Given the description of an element on the screen output the (x, y) to click on. 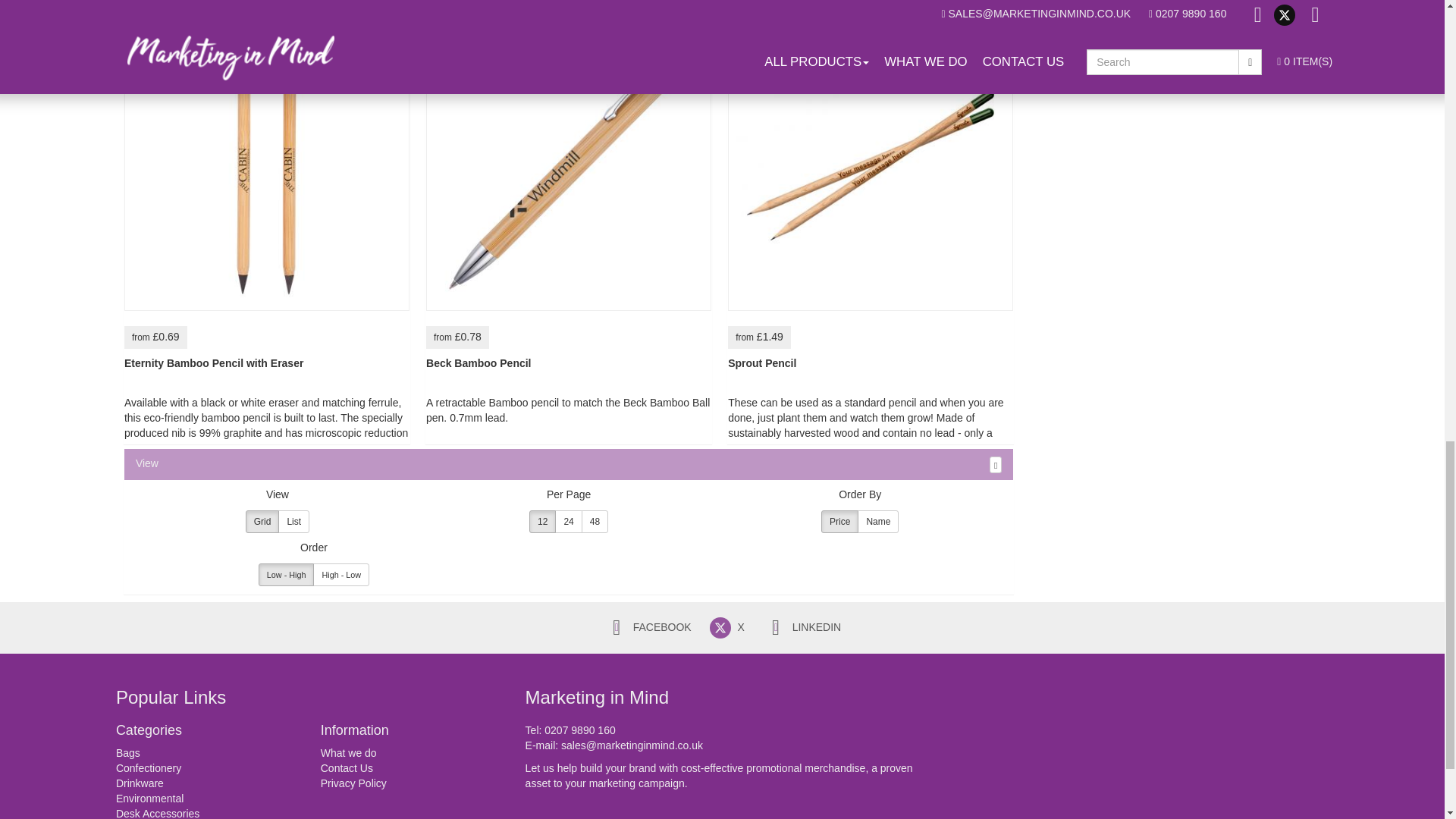
Order by Grid (262, 521)
Order by Low - High (286, 574)
Order by List (293, 521)
Order by High - Low (341, 574)
Arrange by Name (877, 521)
Arrange by Price (840, 521)
